Given the description of an element on the screen output the (x, y) to click on. 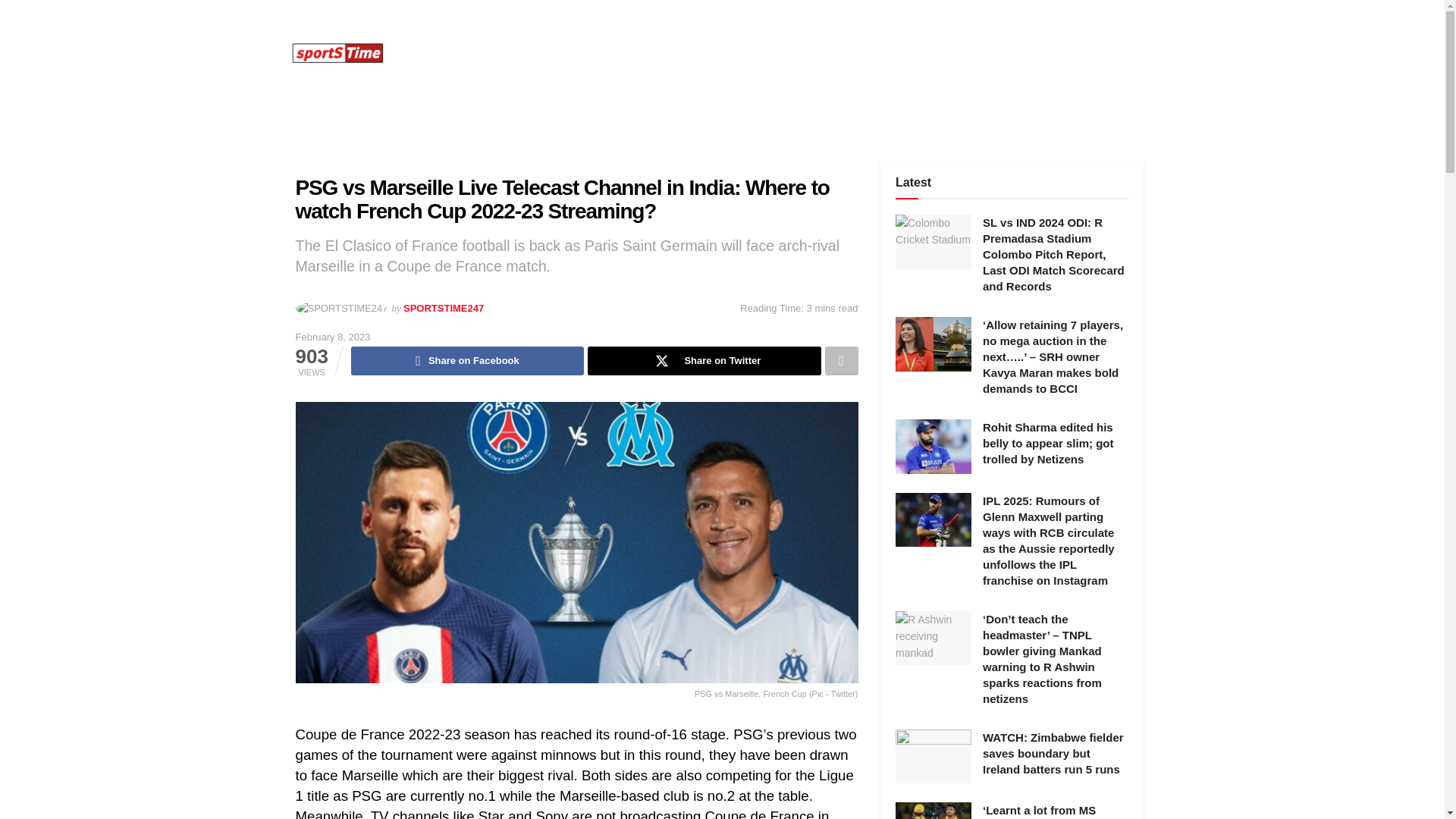
February 8, 2023 (333, 337)
EVENTS (895, 53)
FANTASY TIPS (985, 53)
OTHER SPORTS (800, 53)
CRICKET (443, 53)
Share on Twitter (704, 360)
Share on Facebook (466, 360)
CRICKET WORLD CUP 2023 (569, 53)
FOOTBALL (701, 53)
SPORTSTIME247 (443, 307)
